Given the description of an element on the screen output the (x, y) to click on. 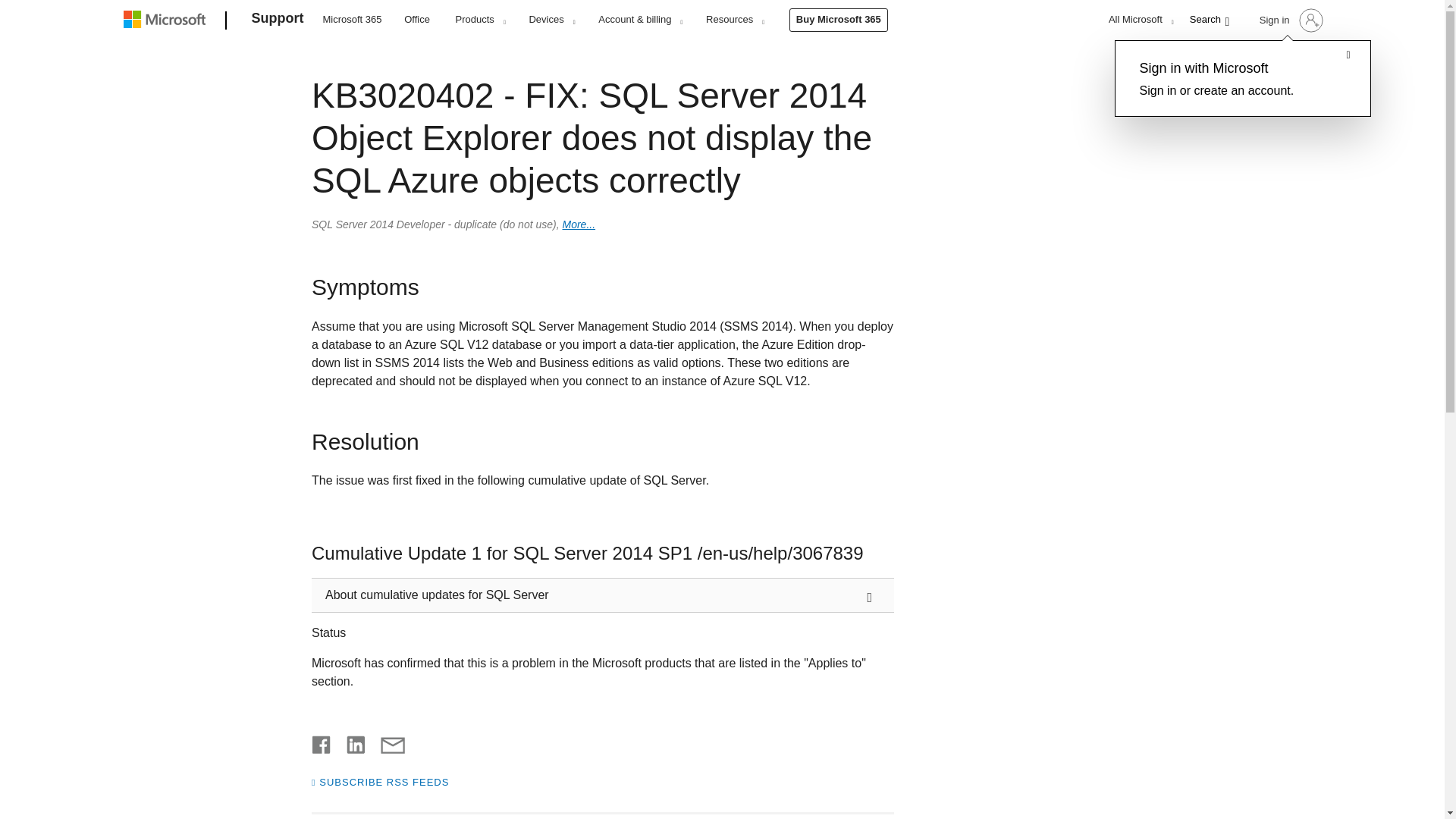
Share on Facebook (322, 742)
Support (277, 20)
Share on LinkedIn (349, 742)
Office (416, 18)
Microsoft 365 (351, 18)
Resources (734, 18)
Share by email (385, 742)
Microsoft (167, 20)
Products (480, 18)
Devices (550, 18)
